Given the description of an element on the screen output the (x, y) to click on. 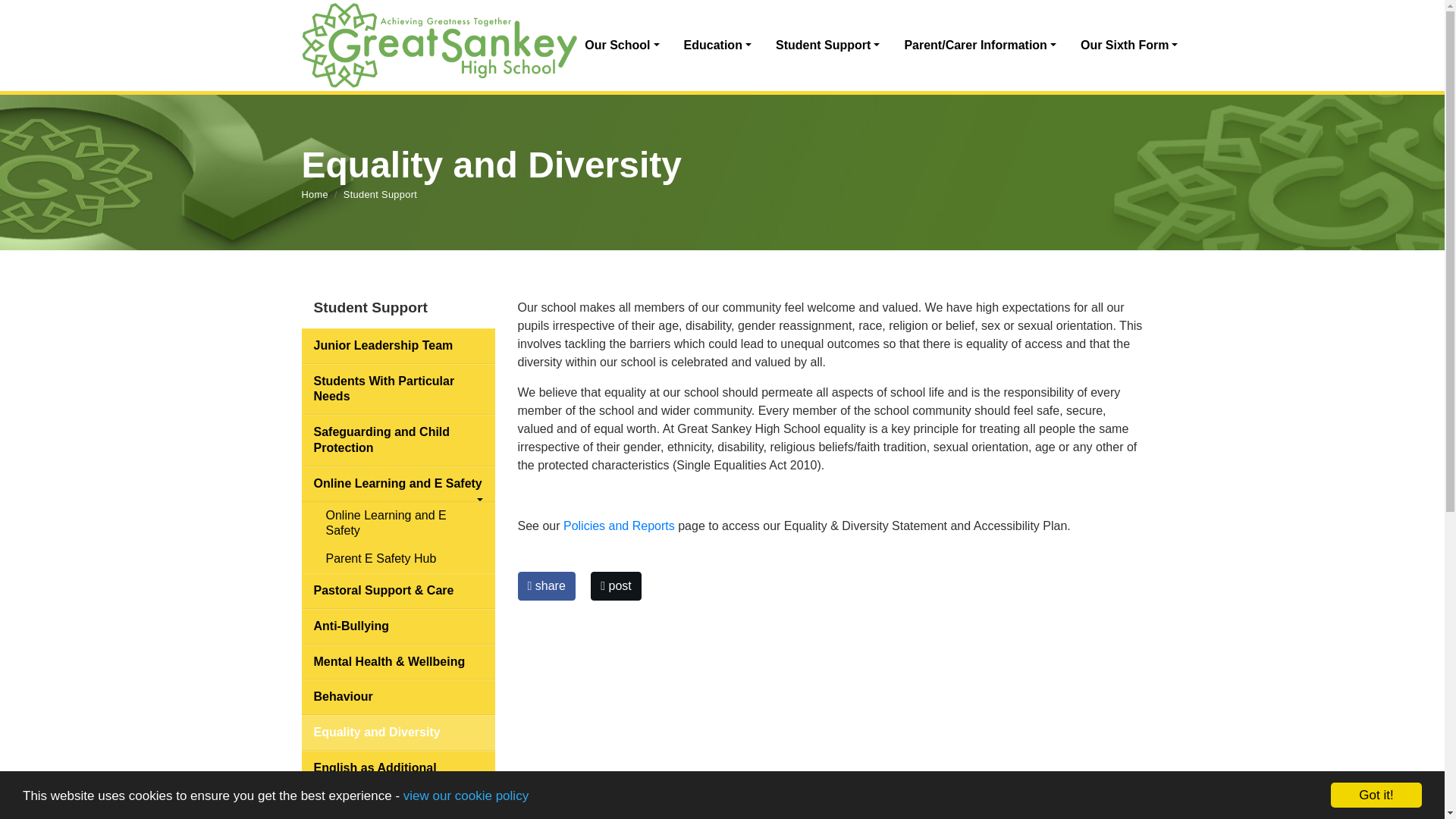
Post on X (616, 585)
Student Support (826, 45)
Education (716, 45)
Our School (621, 45)
Share on Facebook (545, 585)
